Given the description of an element on the screen output the (x, y) to click on. 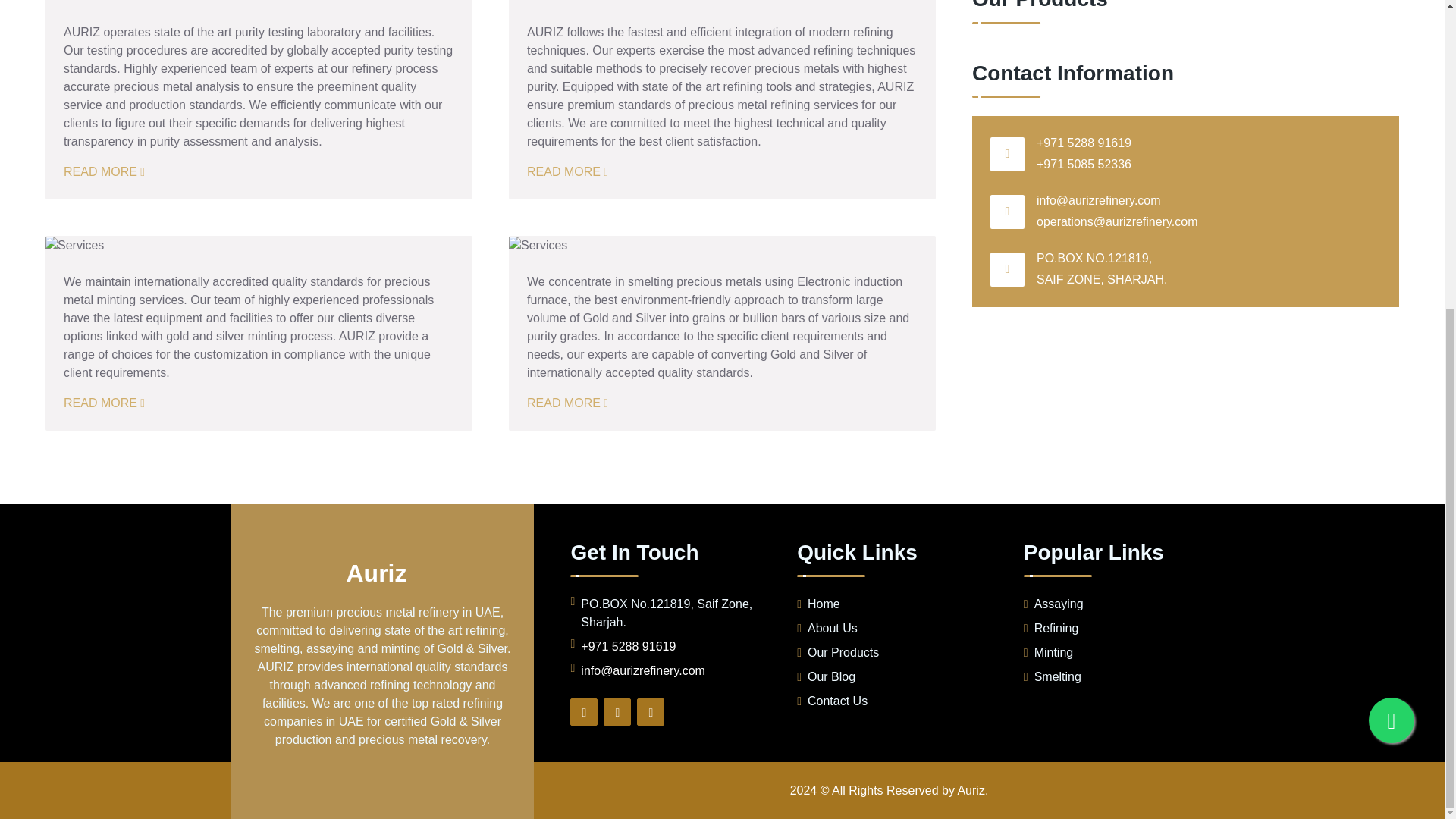
READ MORE (104, 402)
READ MORE (567, 402)
READ MORE (567, 171)
READ MORE (104, 171)
